Given the description of an element on the screen output the (x, y) to click on. 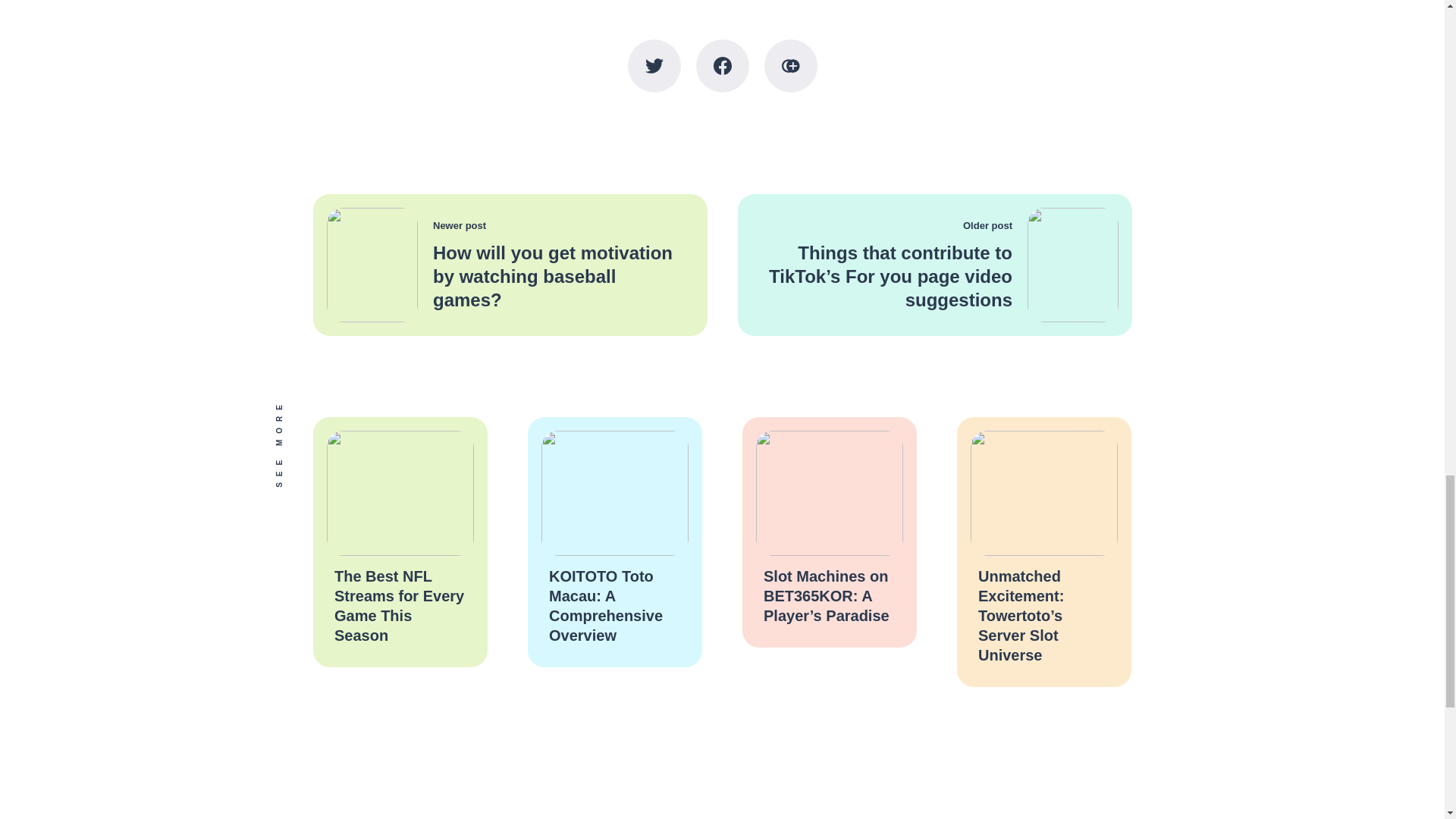
The Best NFL Streams for Every Game This Season (398, 605)
How will you get motivation by watching baseball games? (551, 276)
KOITOTO Toto Macau: A Comprehensive Overview (605, 605)
